Given the description of an element on the screen output the (x, y) to click on. 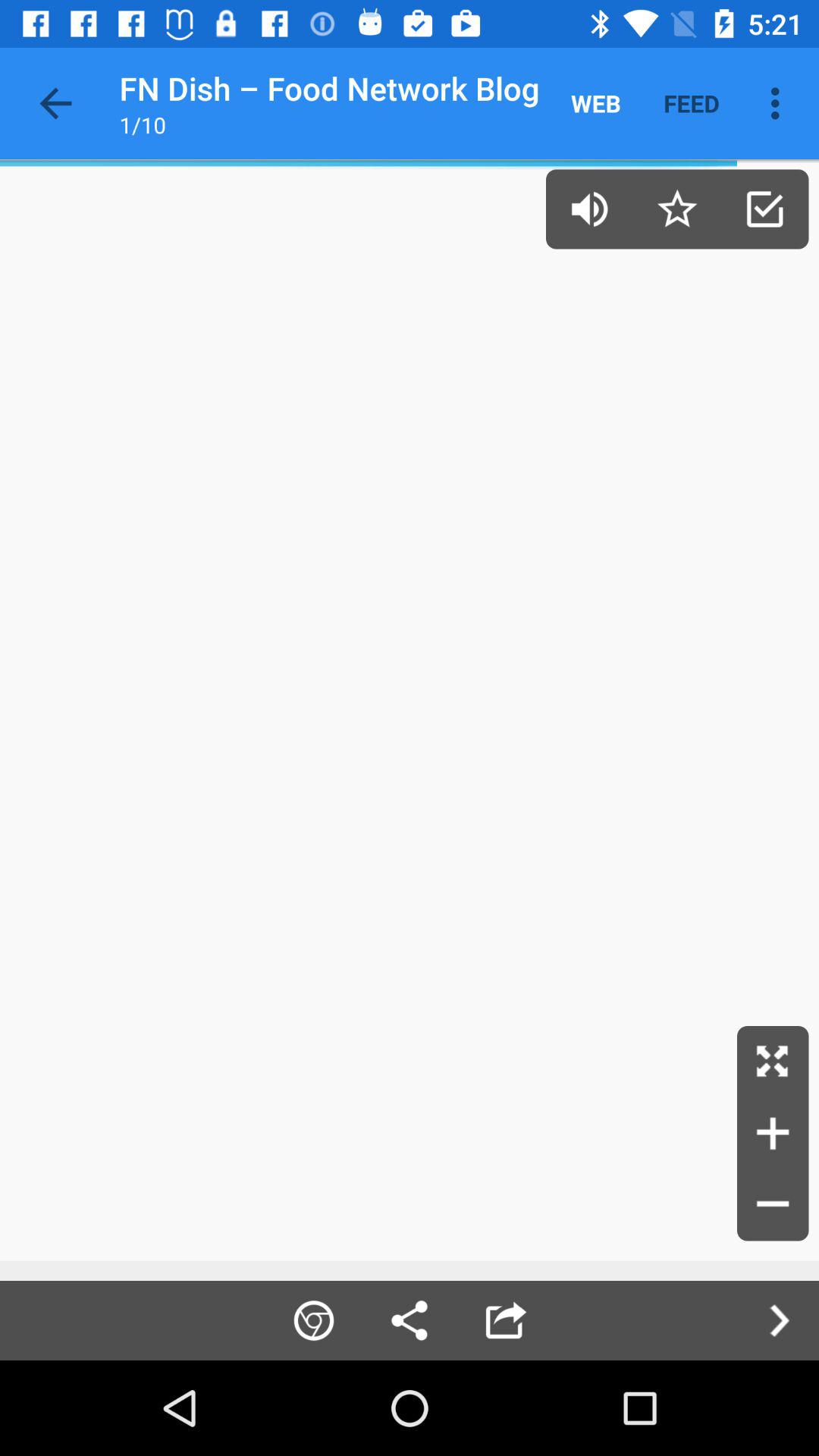
jump to the feed (691, 103)
